Given the description of an element on the screen output the (x, y) to click on. 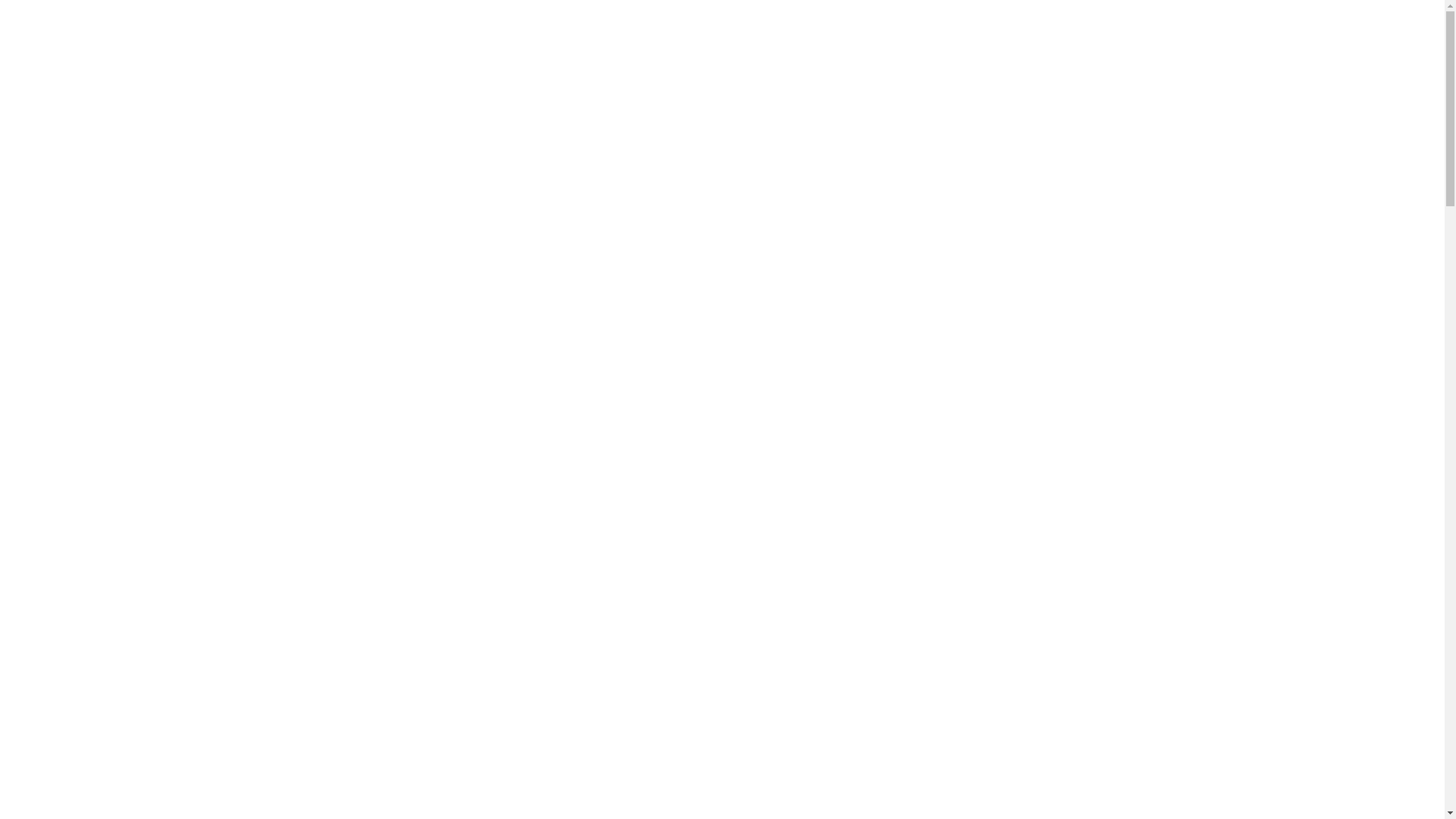
EN Element type: text (1110, 119)
+375293837172 Element type: text (677, 60)
